Given the description of an element on the screen output the (x, y) to click on. 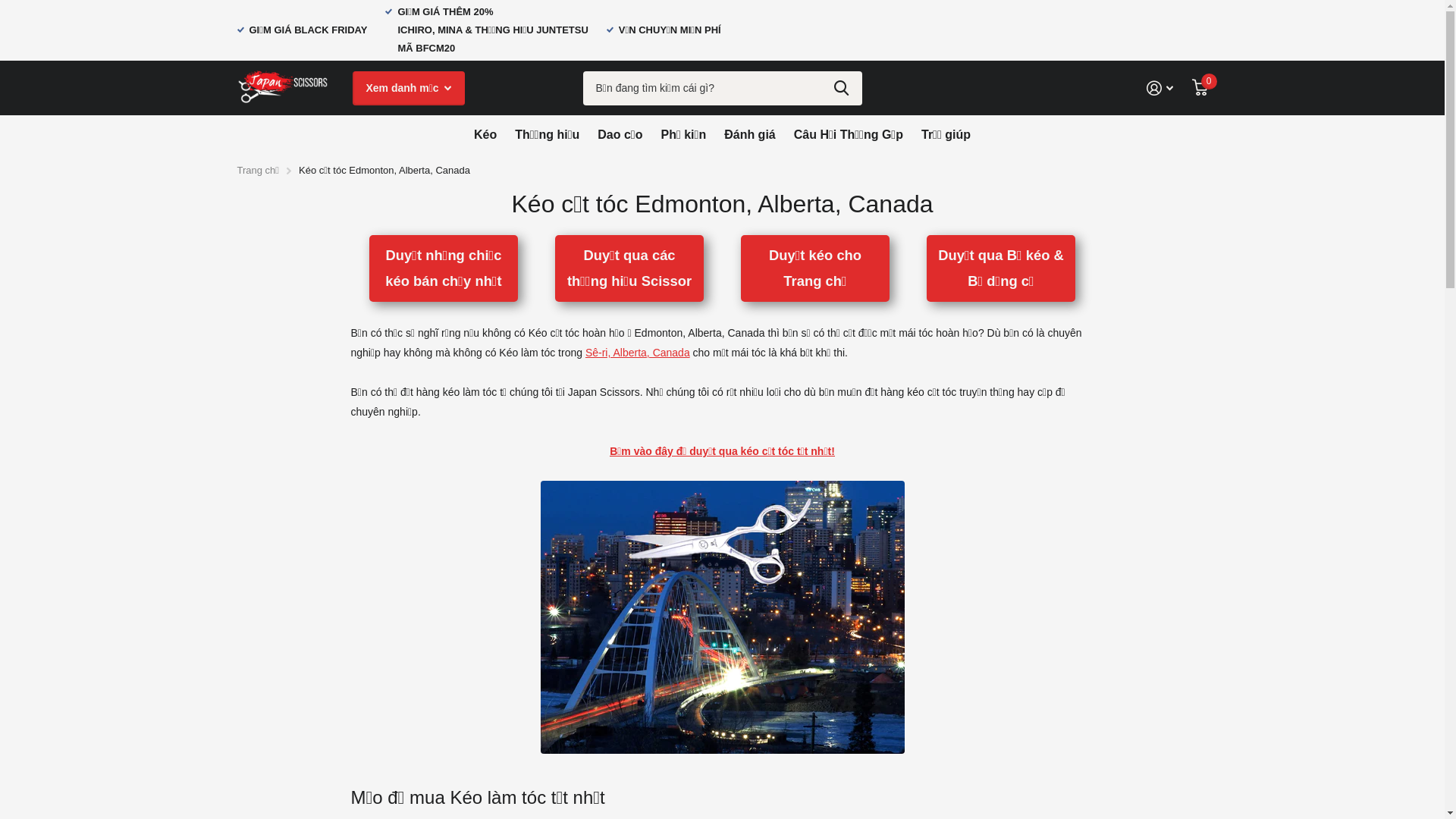
0 Element type: text (1200, 87)
